Given the description of an element on the screen output the (x, y) to click on. 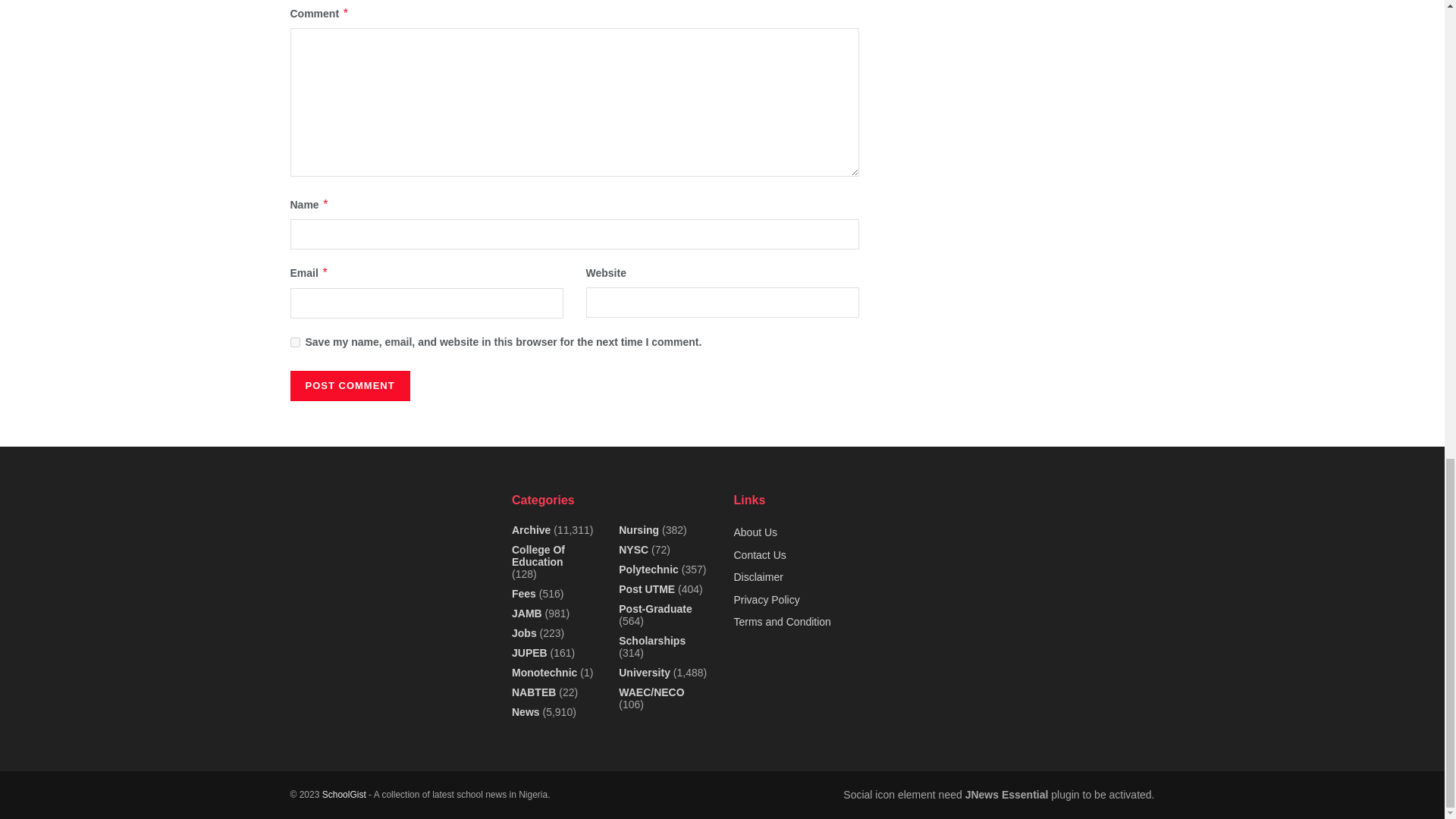
yes (294, 342)
Collection of latest School News in Nigeria (343, 794)
Post Comment (349, 386)
